Given the description of an element on the screen output the (x, y) to click on. 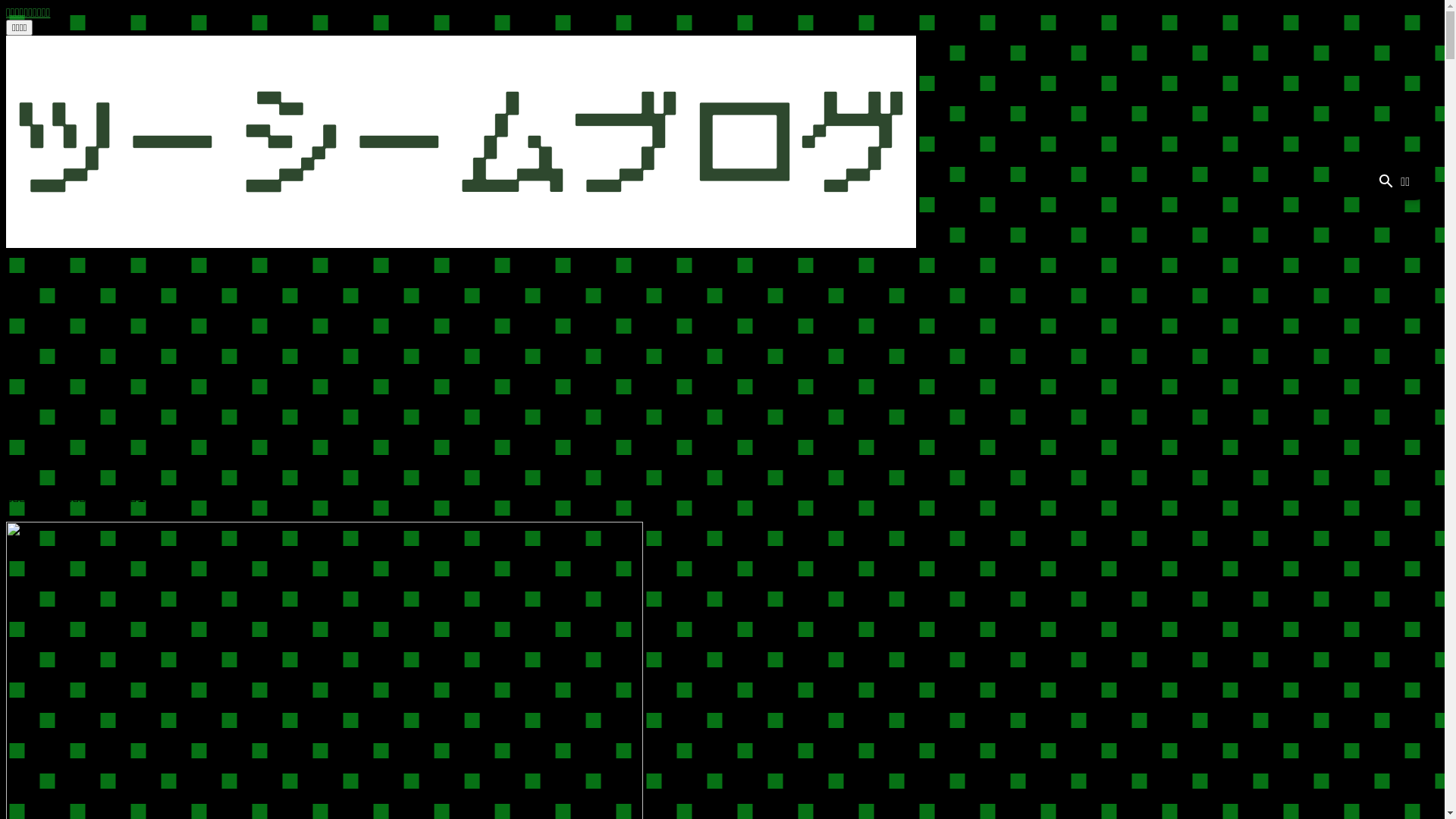
Advertisement Element type: hover (721, 364)
